Given the description of an element on the screen output the (x, y) to click on. 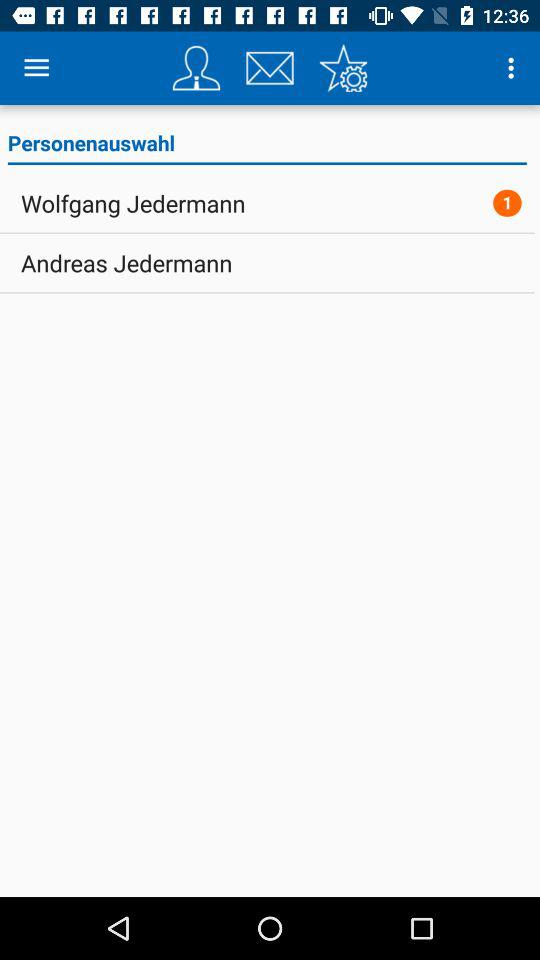
settings (343, 67)
